Given the description of an element on the screen output the (x, y) to click on. 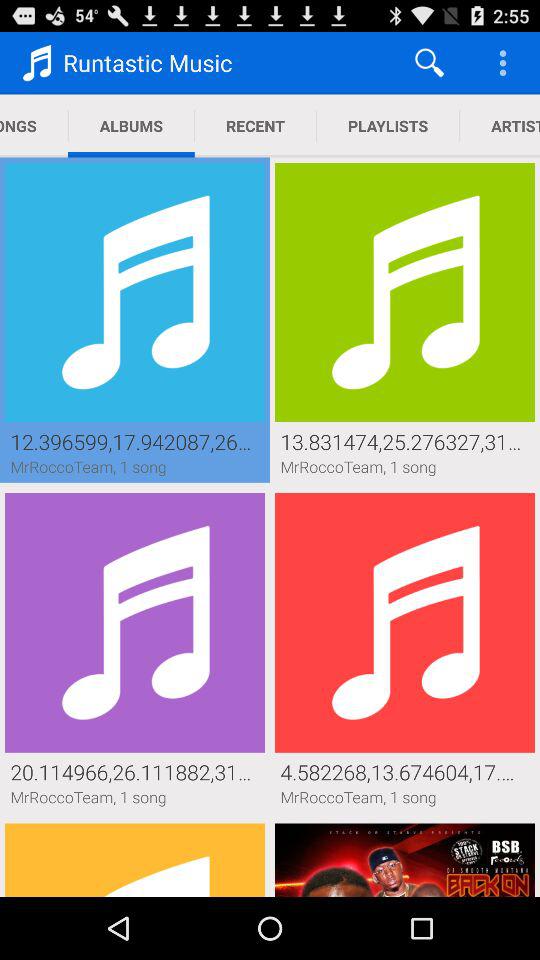
scroll until albums item (131, 125)
